Given the description of an element on the screen output the (x, y) to click on. 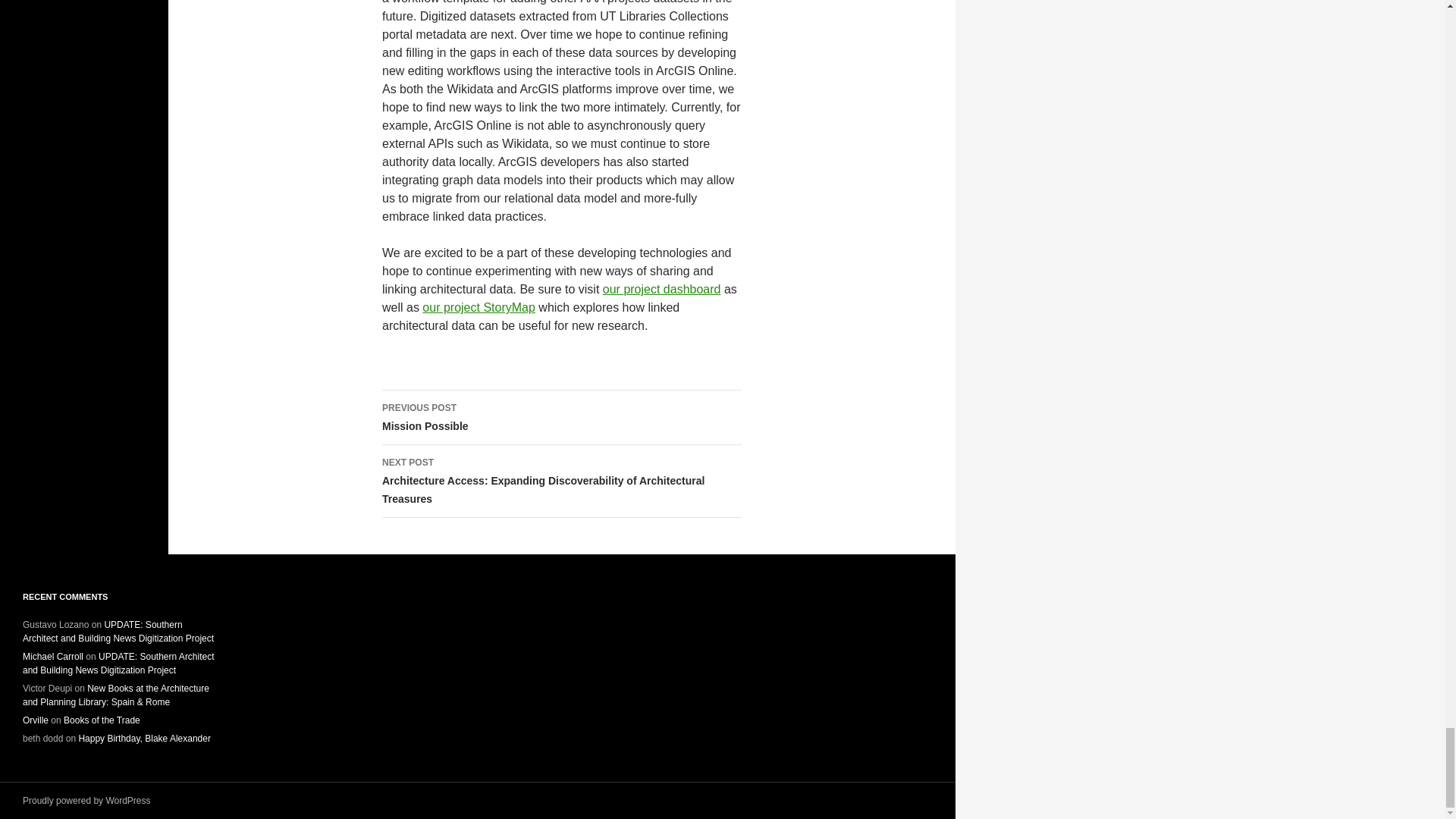
our project StoryMap (478, 307)
our project dashboard (661, 288)
